Given the description of an element on the screen output the (x, y) to click on. 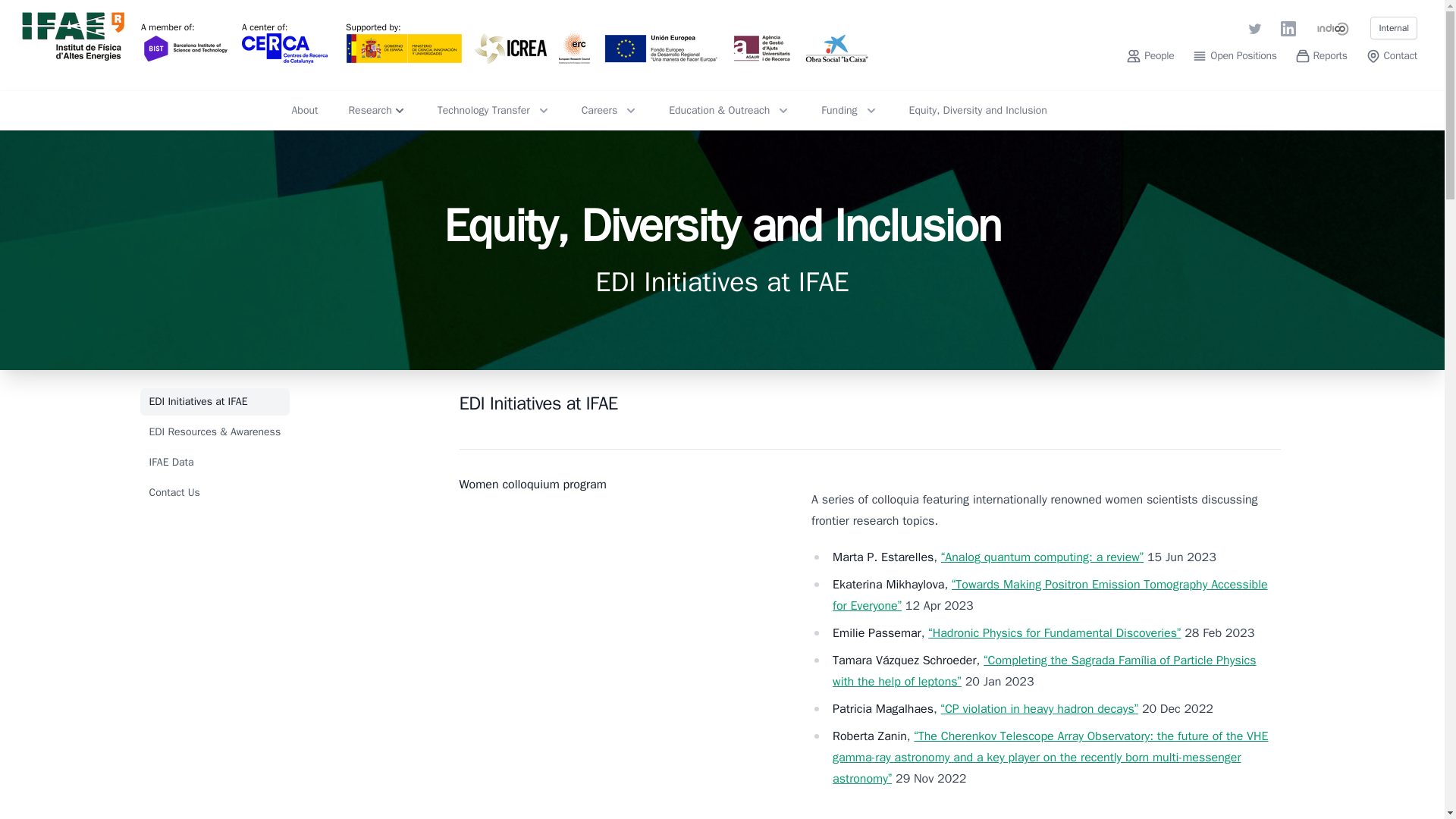
 People (1149, 55)
 Reports (1321, 55)
Research (376, 110)
About (304, 110)
Technology Transfer (494, 110)
Equity, Diversity and Inclusion (977, 110)
Careers (609, 110)
Internal (1393, 27)
 Open Positions (1234, 55)
Funding (849, 110)
